Given the description of an element on the screen output the (x, y) to click on. 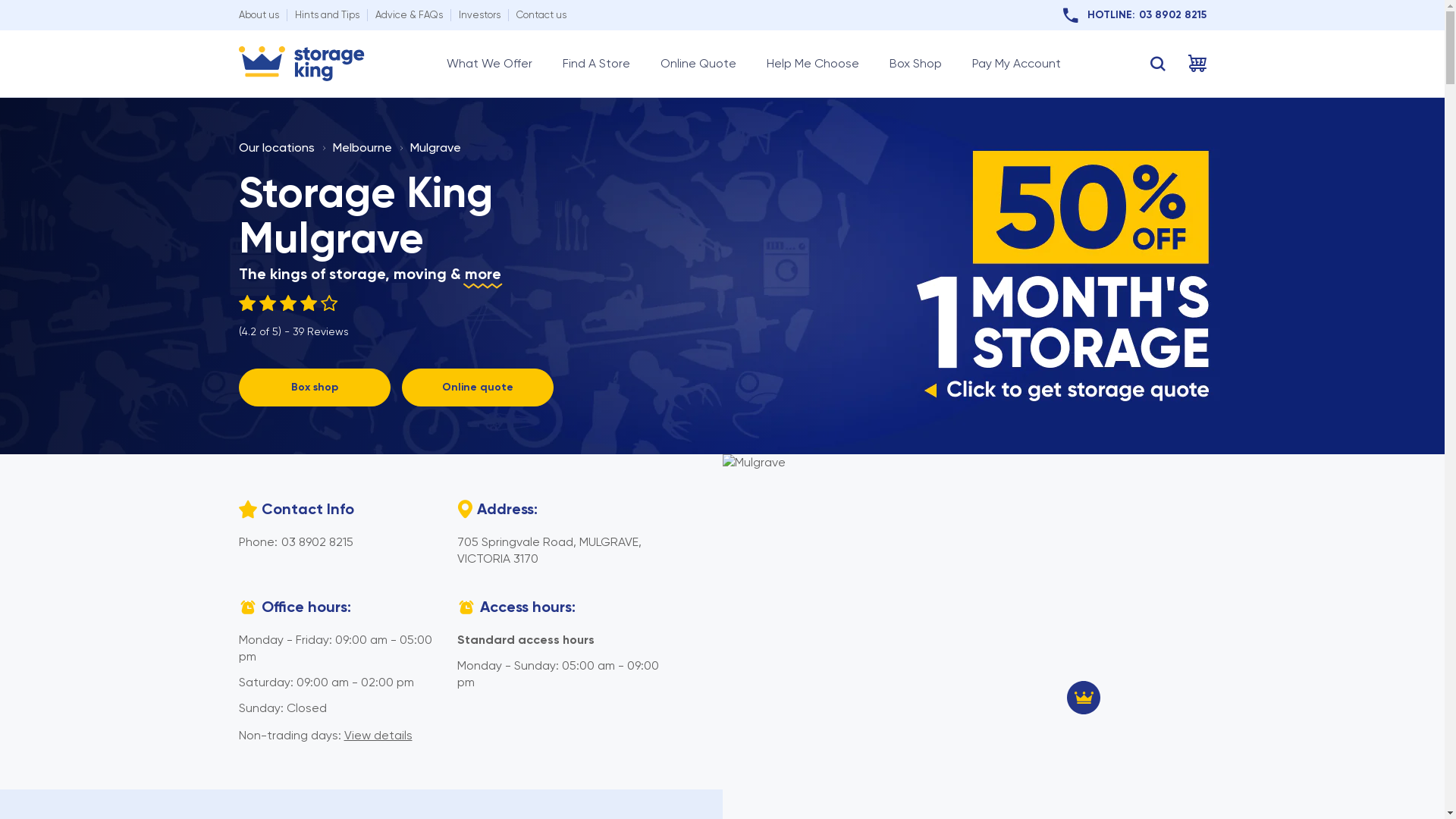
Investors Element type: text (478, 15)
Contact us Element type: text (540, 15)
Mulgrave Element type: text (434, 147)
Box shop Element type: text (313, 387)
View details Element type: text (378, 735)
Pay My Account Element type: text (1016, 63)
Box Shop Element type: text (914, 63)
(4.2 of 5) - 39 Reviews Element type: text (293, 316)
HOTLINE:
03 8902 8215 Element type: text (1134, 14)
About us Element type: text (258, 15)
705 Springvale Road, MULGRAVE, VICTORIA 3170 Element type: text (548, 549)
Advice & FAQs Element type: text (408, 15)
Melbourne Element type: text (361, 147)
Find A Store Element type: text (596, 63)
Online Quote Element type: text (697, 63)
Hints and Tips Element type: text (326, 15)
4.20 Element type: hover (293, 303)
Help Me Choose Element type: text (811, 63)
What We Offer Element type: text (488, 63)
Online quote Element type: text (477, 387)
03 8902 8215 Element type: text (316, 541)
Our locations Element type: text (275, 147)
